Given the description of an element on the screen output the (x, y) to click on. 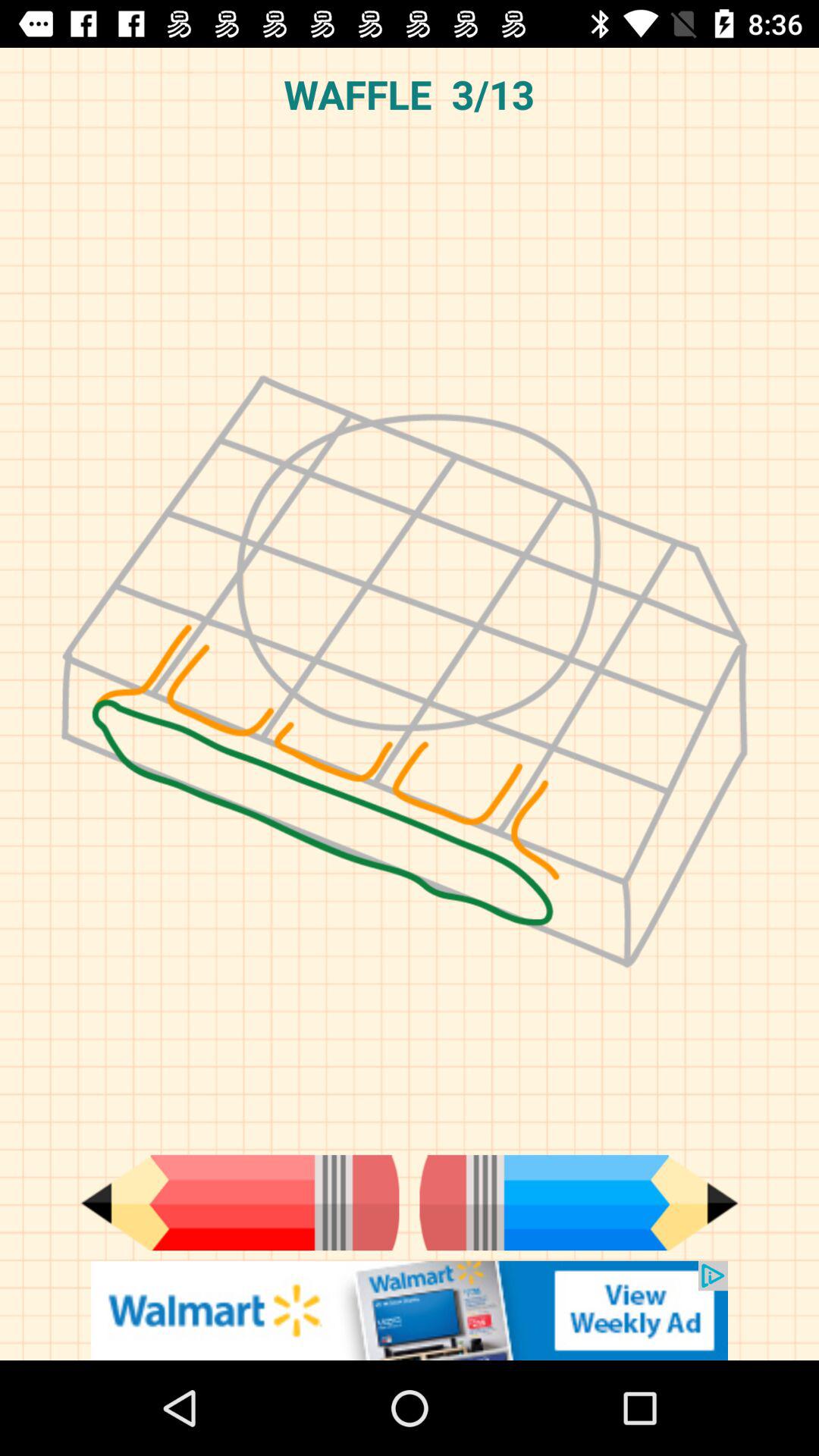
previous step (239, 1202)
